Given the description of an element on the screen output the (x, y) to click on. 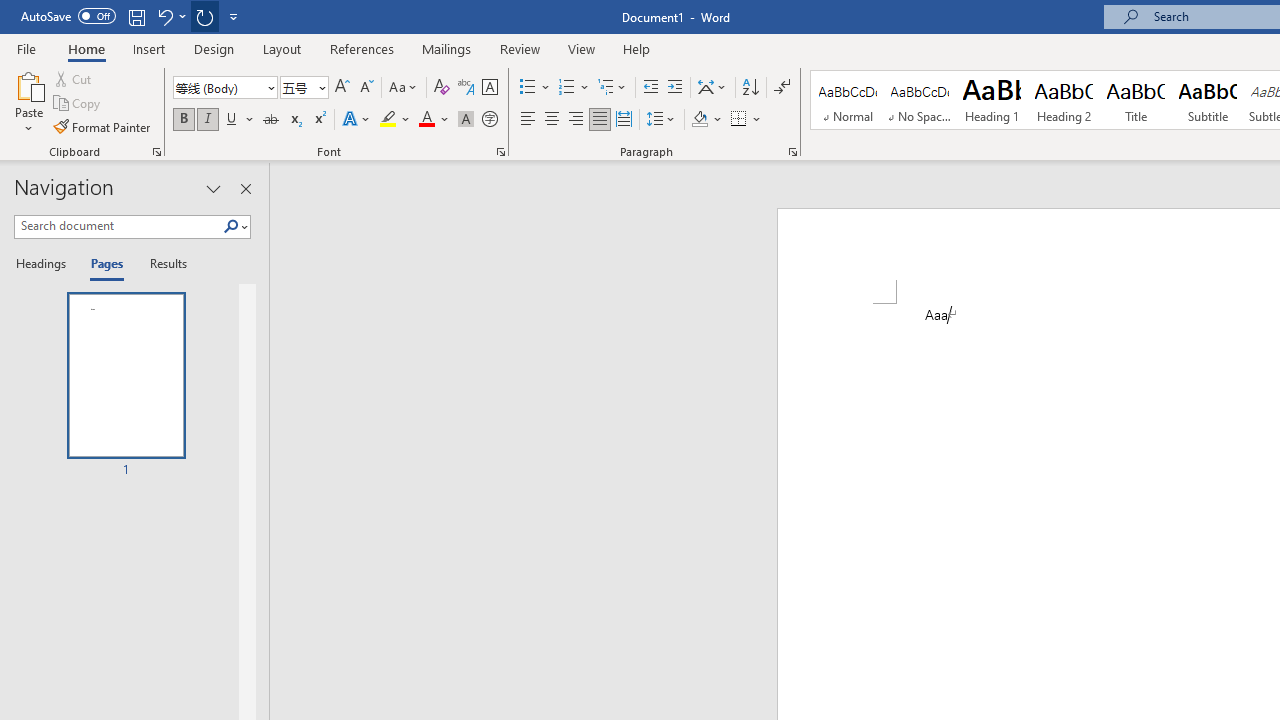
Font... (500, 151)
Bullets (535, 87)
Help (637, 48)
Paste (28, 84)
Layout (282, 48)
Font (224, 87)
Show/Hide Editing Marks (781, 87)
Change Case (404, 87)
Clear Formatting (442, 87)
Close pane (246, 188)
Heading 1 (991, 100)
Font Color Red (426, 119)
Heading 2 (1063, 100)
Cut (73, 78)
